Given the description of an element on the screen output the (x, y) to click on. 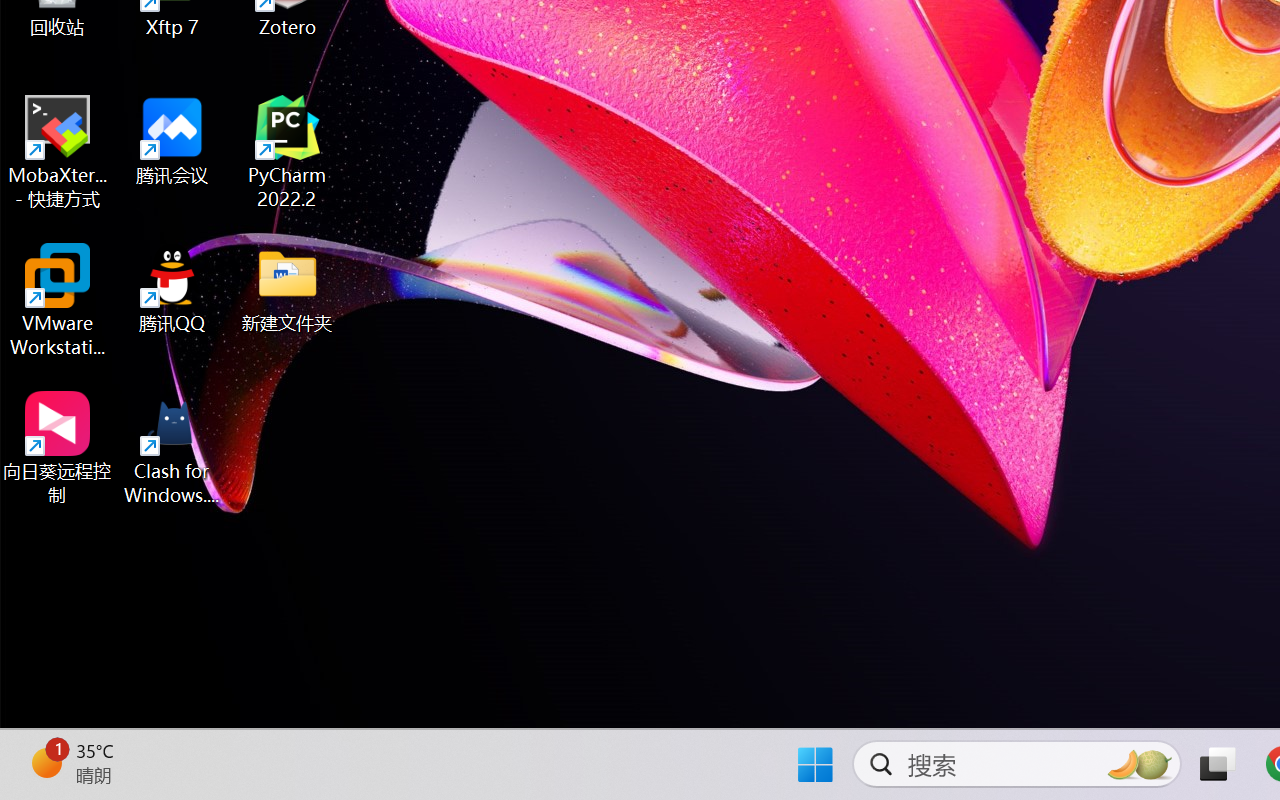
PyCharm 2022.2 (287, 152)
VMware Workstation Pro (57, 300)
